Given the description of an element on the screen output the (x, y) to click on. 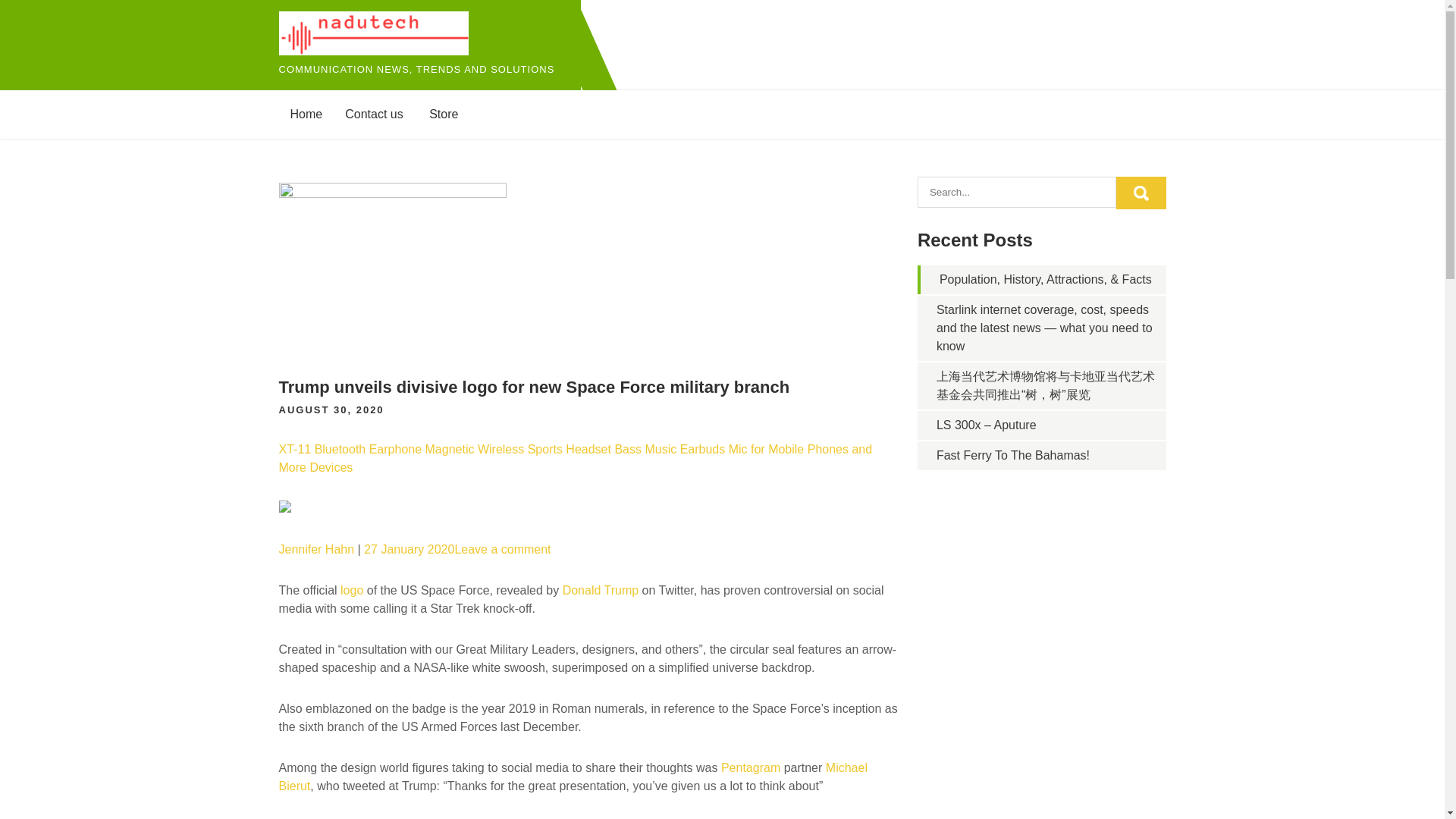
Leave a comment (502, 549)
Donald Trump (600, 590)
Jennifer Hahn (317, 549)
logo (351, 590)
Search (1141, 192)
27 January 2020 (409, 549)
Pentagram (750, 767)
Home (306, 114)
Search (1141, 192)
Contact us (373, 114)
Search (1141, 192)
Store (442, 114)
Michael Bierut (573, 776)
